Given the description of an element on the screen output the (x, y) to click on. 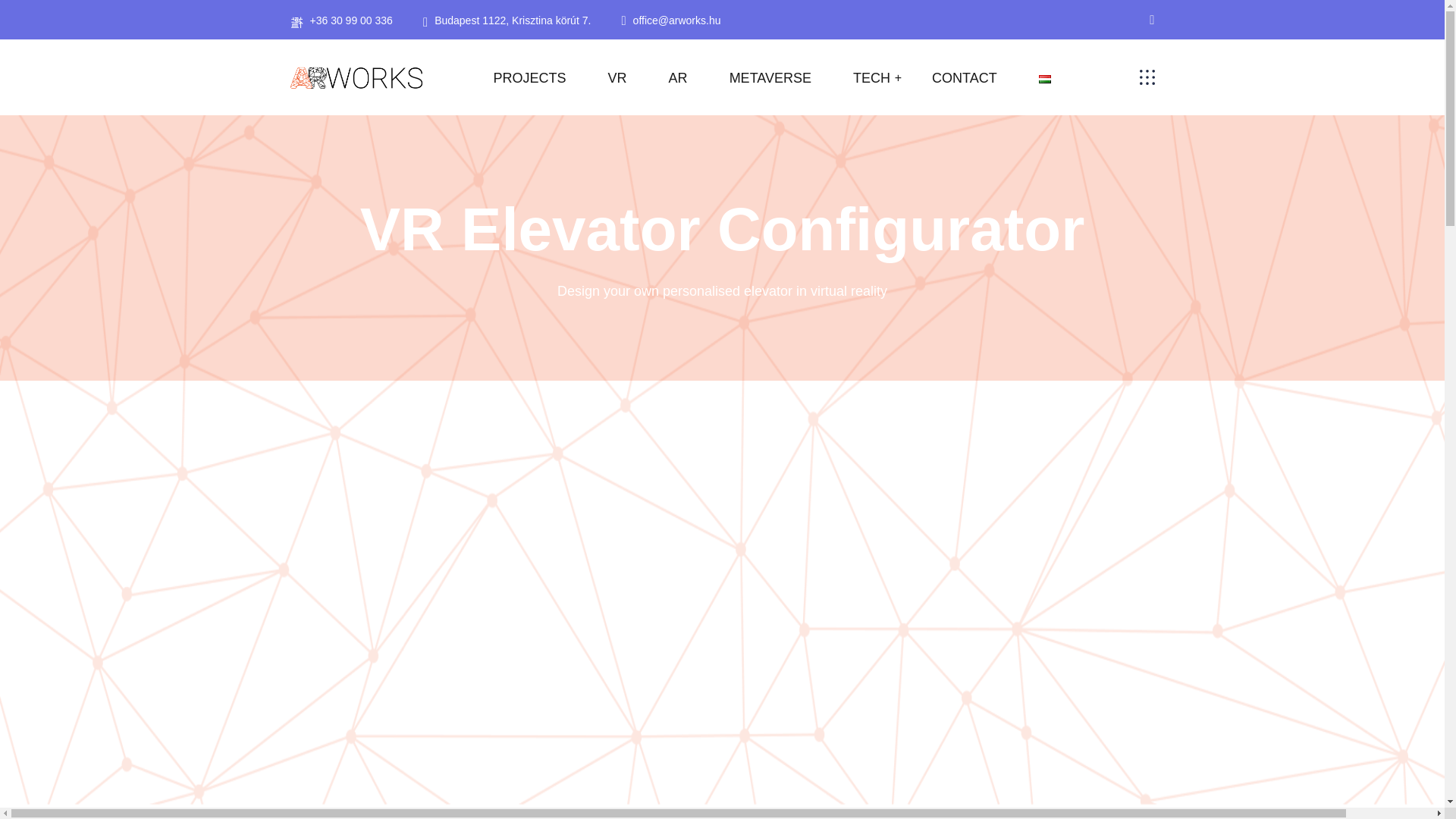
PROJECTS (529, 77)
CONTACT (964, 77)
METAVERSE (769, 77)
